Given the description of an element on the screen output the (x, y) to click on. 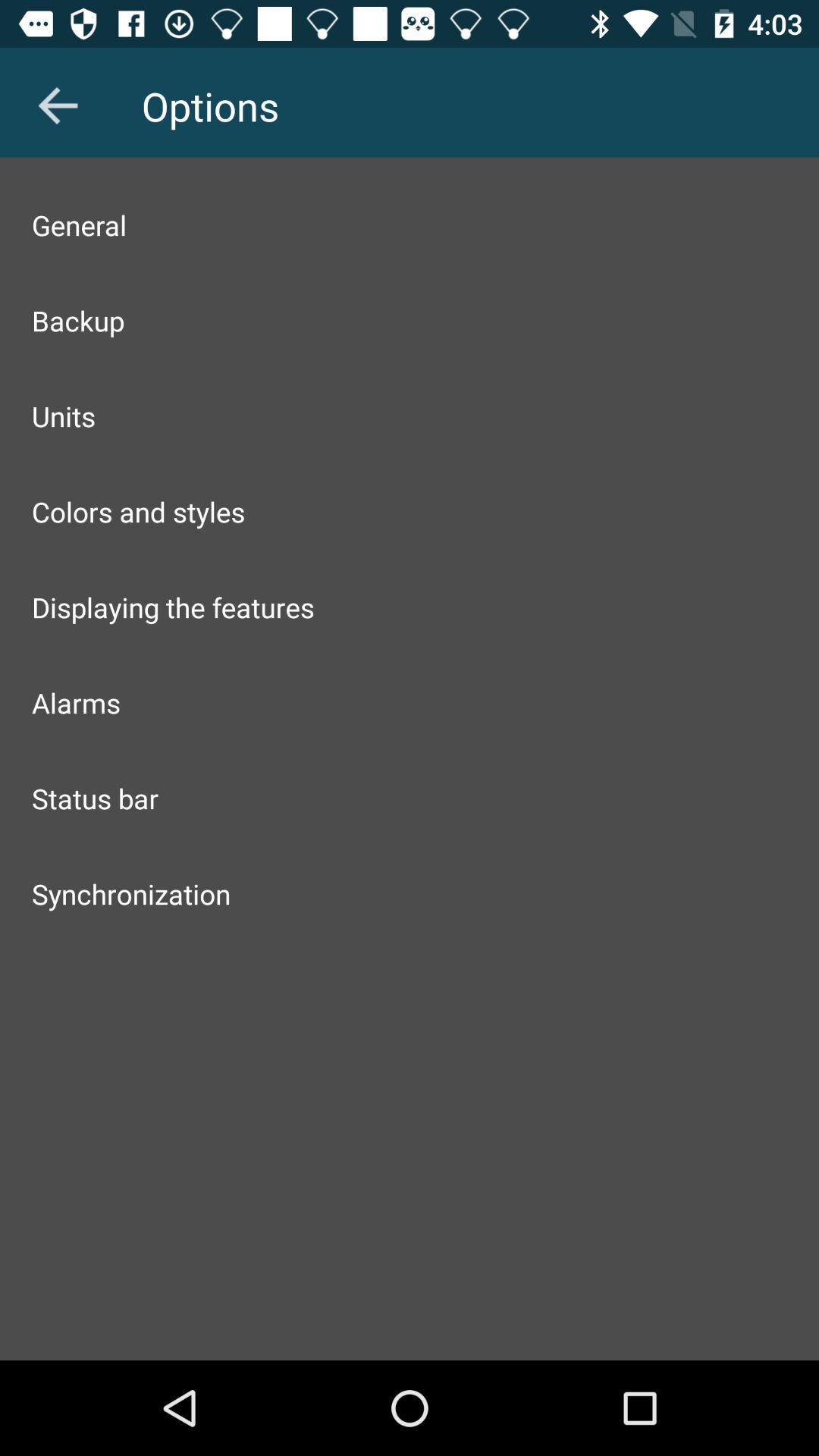
go back (57, 105)
